Given the description of an element on the screen output the (x, y) to click on. 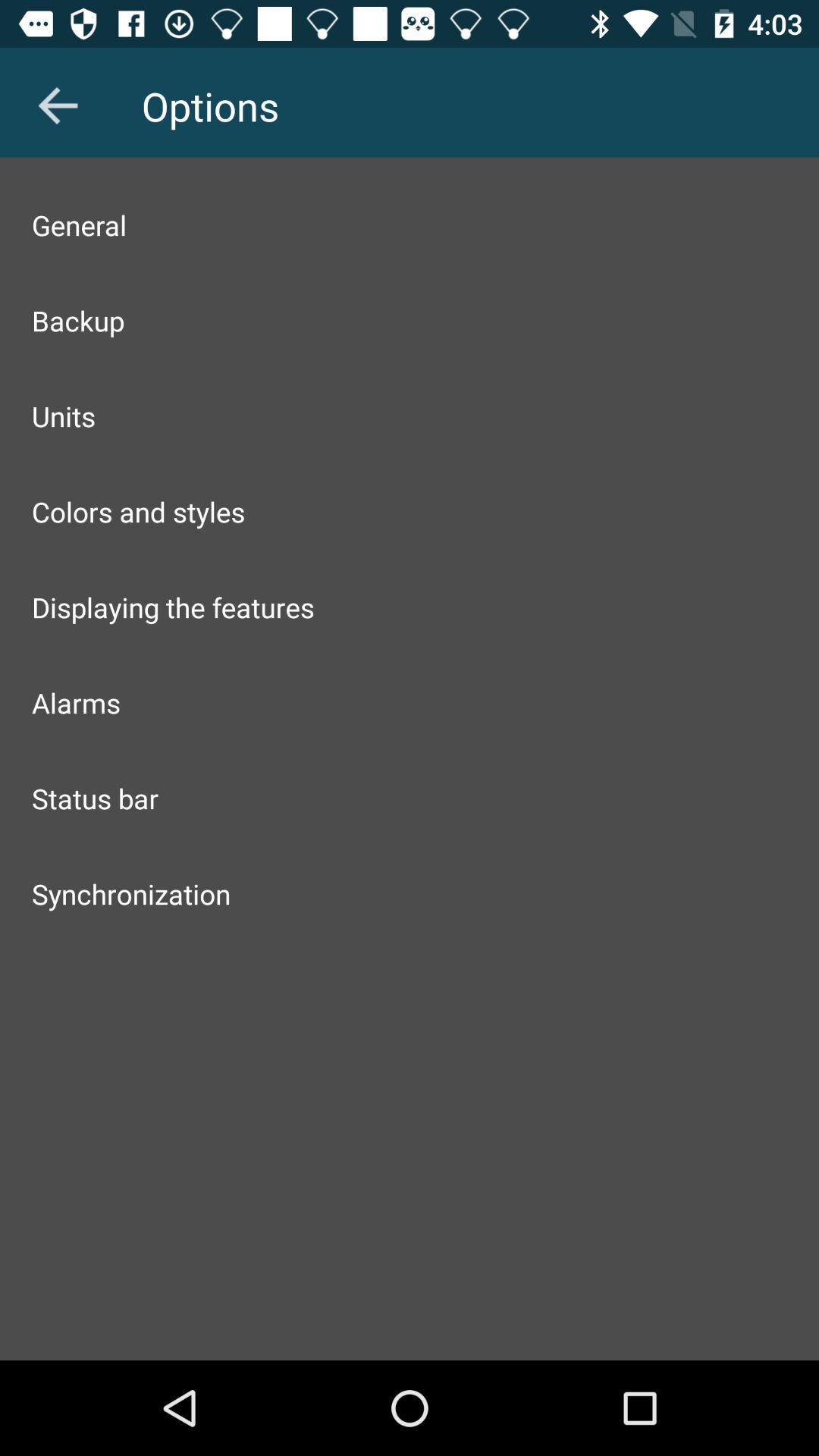
go back (57, 105)
